Given the description of an element on the screen output the (x, y) to click on. 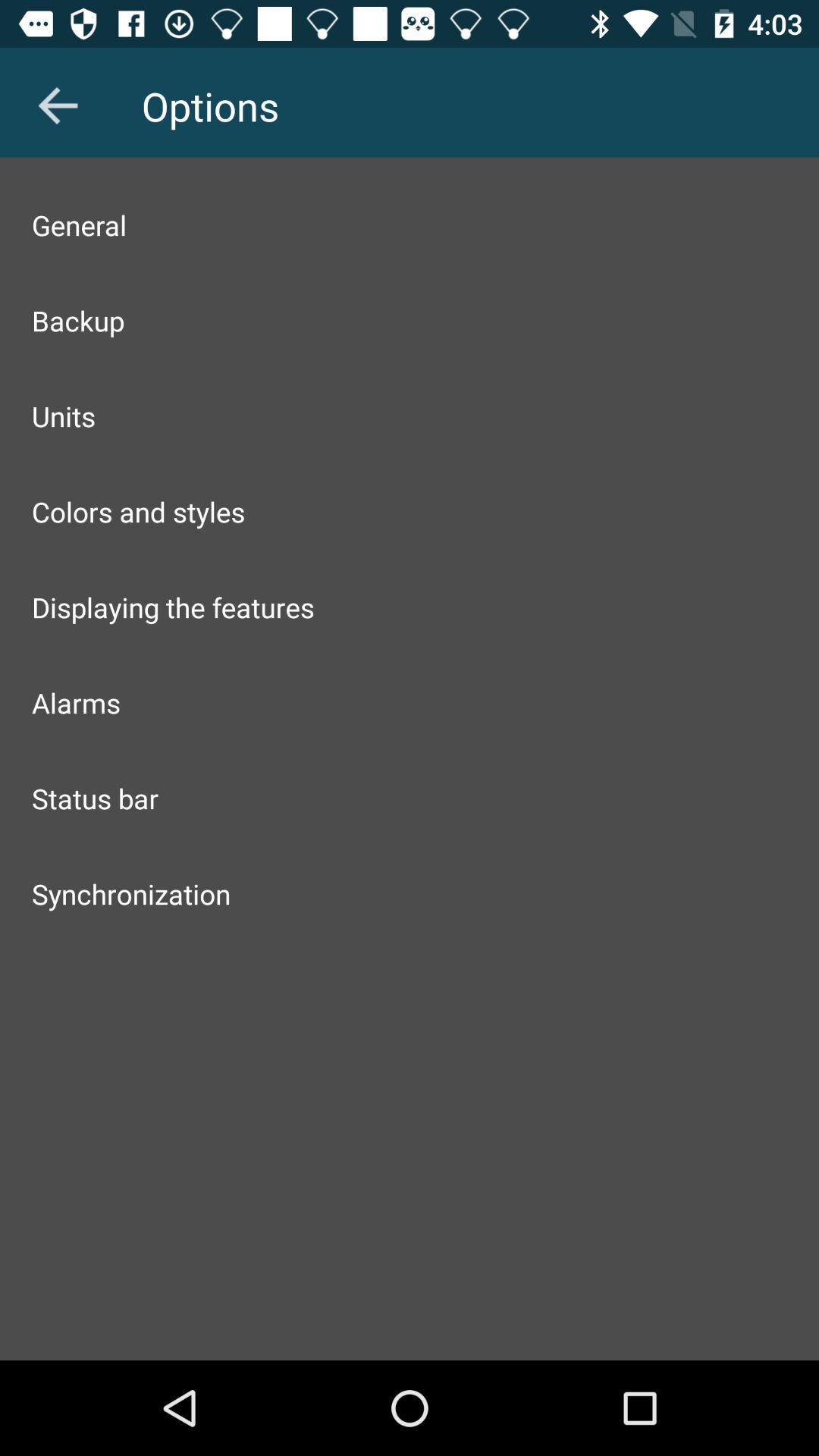
go back (57, 105)
